Given the description of an element on the screen output the (x, y) to click on. 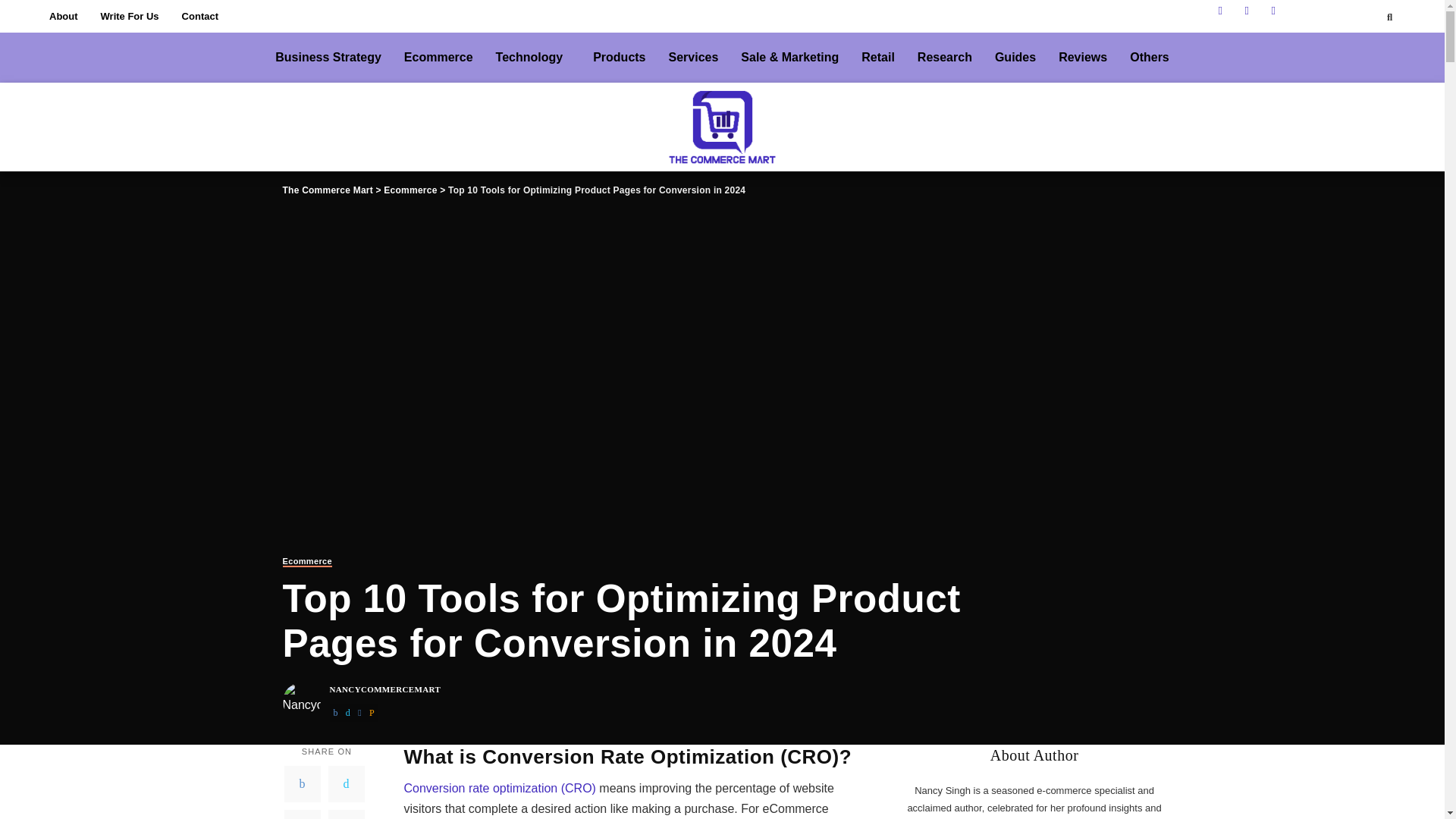
The Commerce Mart (327, 190)
Retail (877, 57)
Ecommerce (410, 190)
Go to the Ecommerce Category archives. (410, 190)
Research (944, 57)
Technology (533, 57)
Go to The Commerce Mart. (327, 190)
Twitter (345, 783)
About (62, 16)
Email (345, 814)
Guides (1015, 57)
Ecommerce (306, 562)
Write For Us (129, 16)
Contact (200, 16)
Reviews (1082, 57)
